Given the description of an element on the screen output the (x, y) to click on. 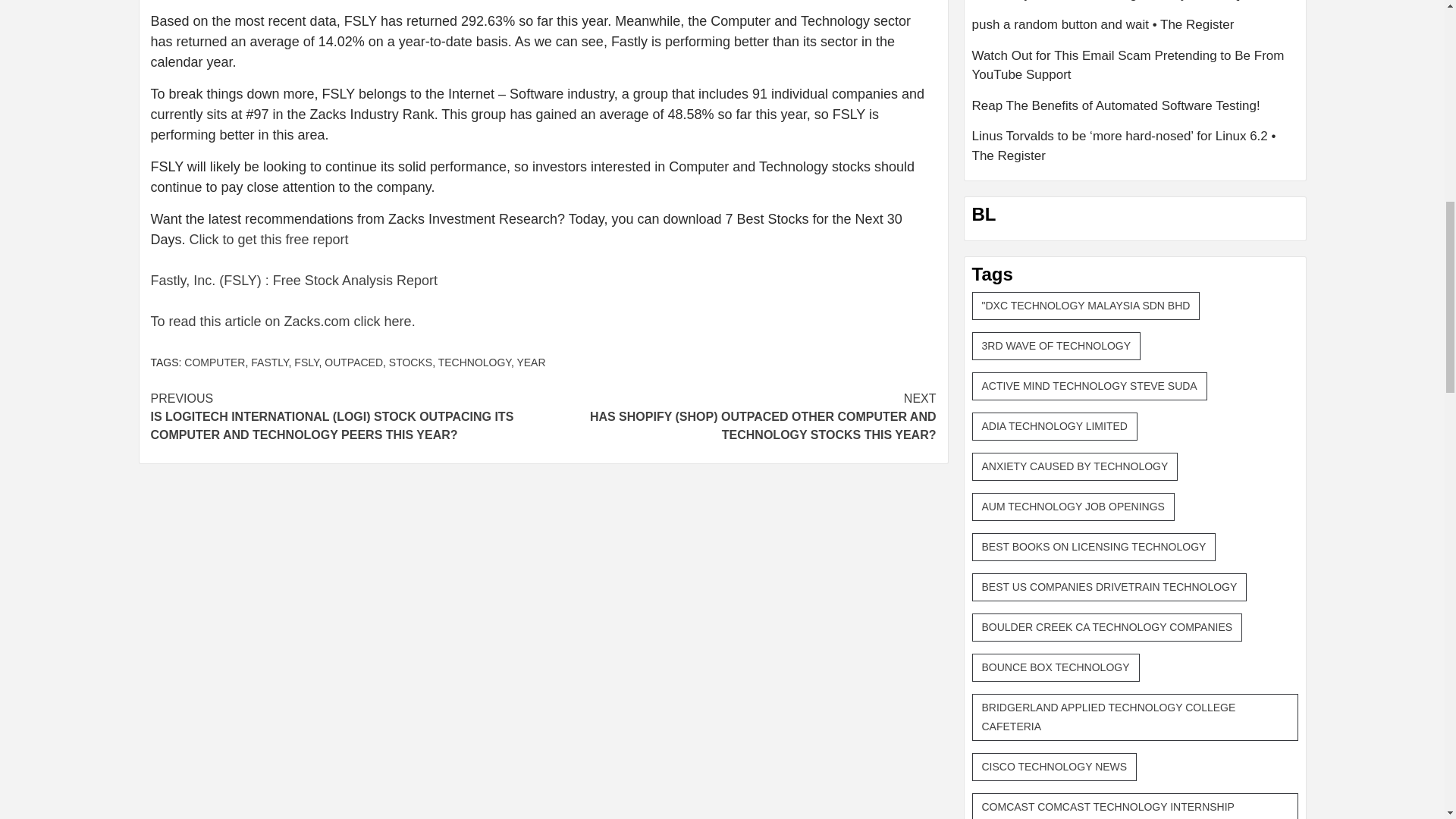
STOCKS (410, 362)
COMPUTER (214, 362)
OUTPACED (353, 362)
YEAR (530, 362)
Click to get this free report (269, 239)
TECHNOLOGY (474, 362)
FASTLY (269, 362)
To read this article on Zacks.com click here. (281, 321)
FSLY (306, 362)
